Given the description of an element on the screen output the (x, y) to click on. 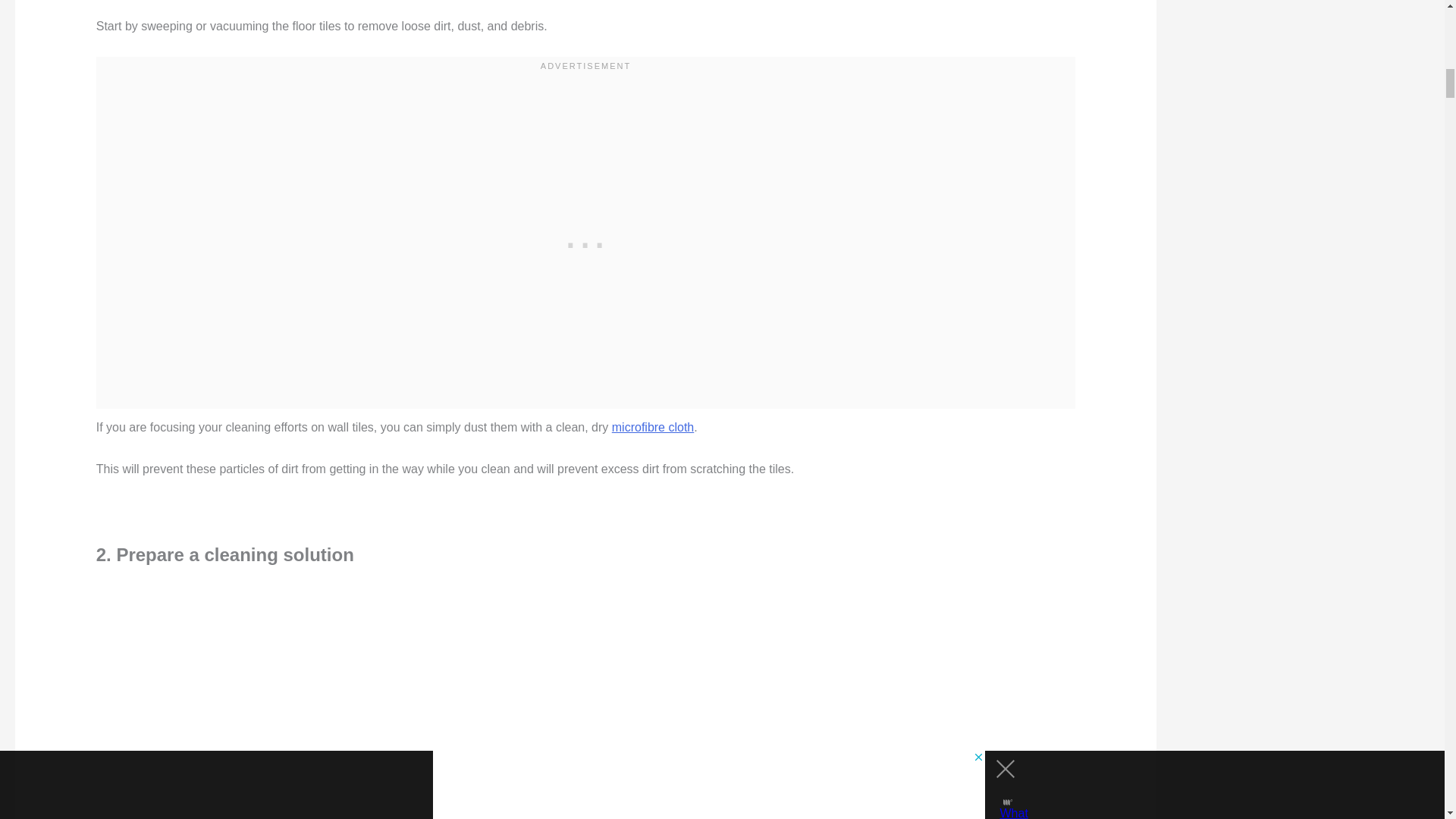
microfibre cloth (652, 427)
